Given the description of an element on the screen output the (x, y) to click on. 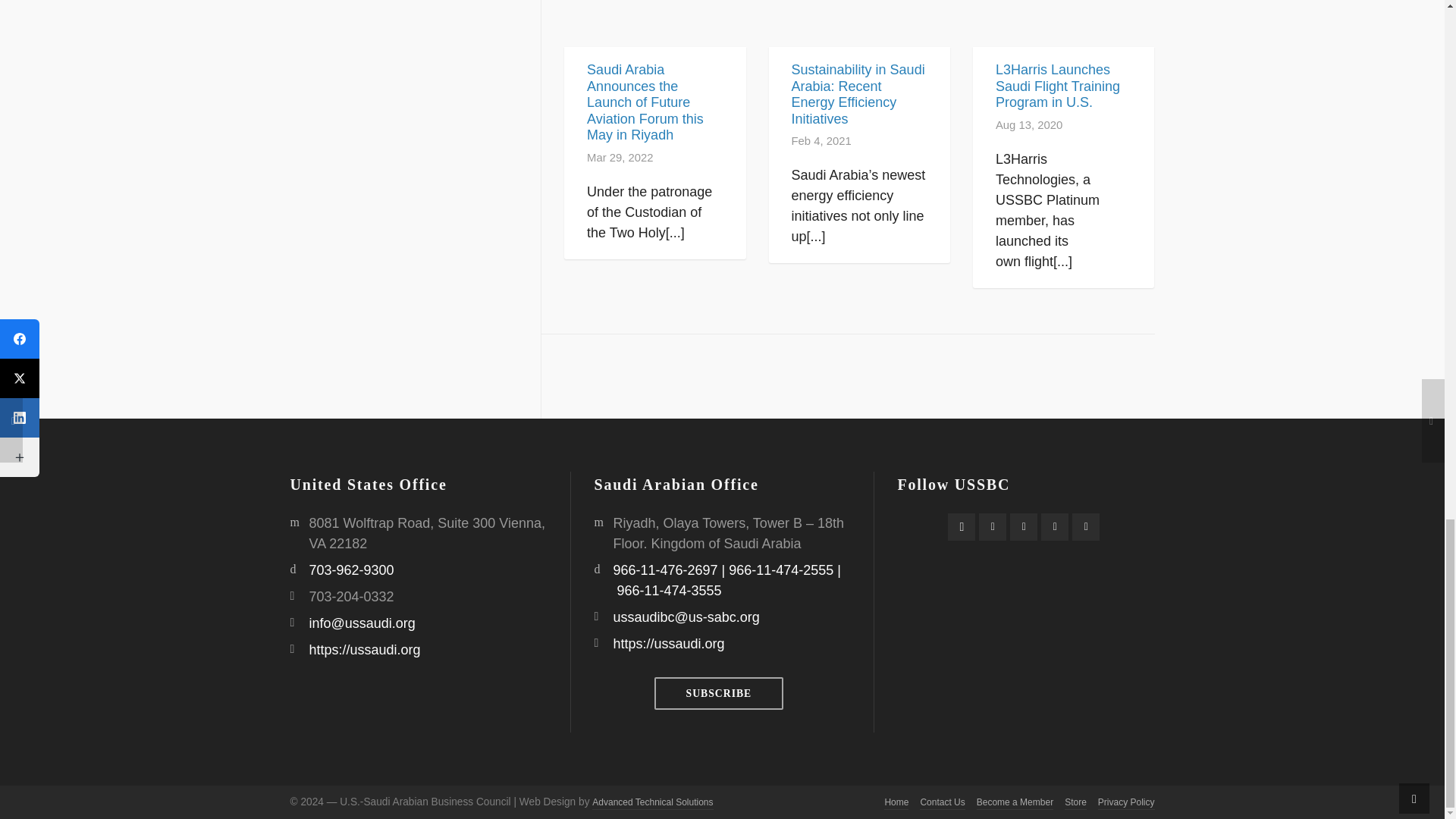
ATS Web Designs (652, 802)
